Given the description of an element on the screen output the (x, y) to click on. 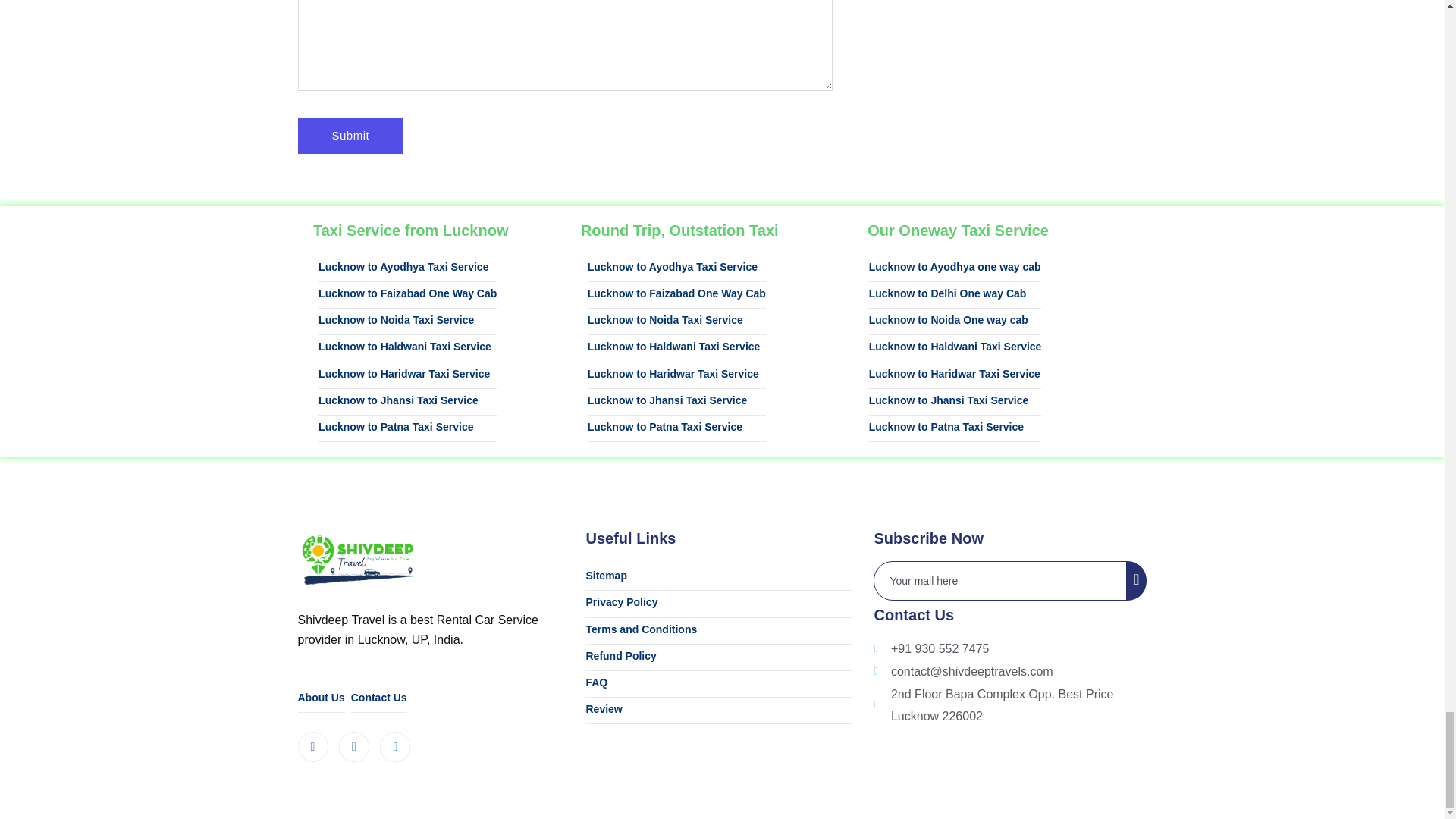
Submit (350, 135)
